Given the description of an element on the screen output the (x, y) to click on. 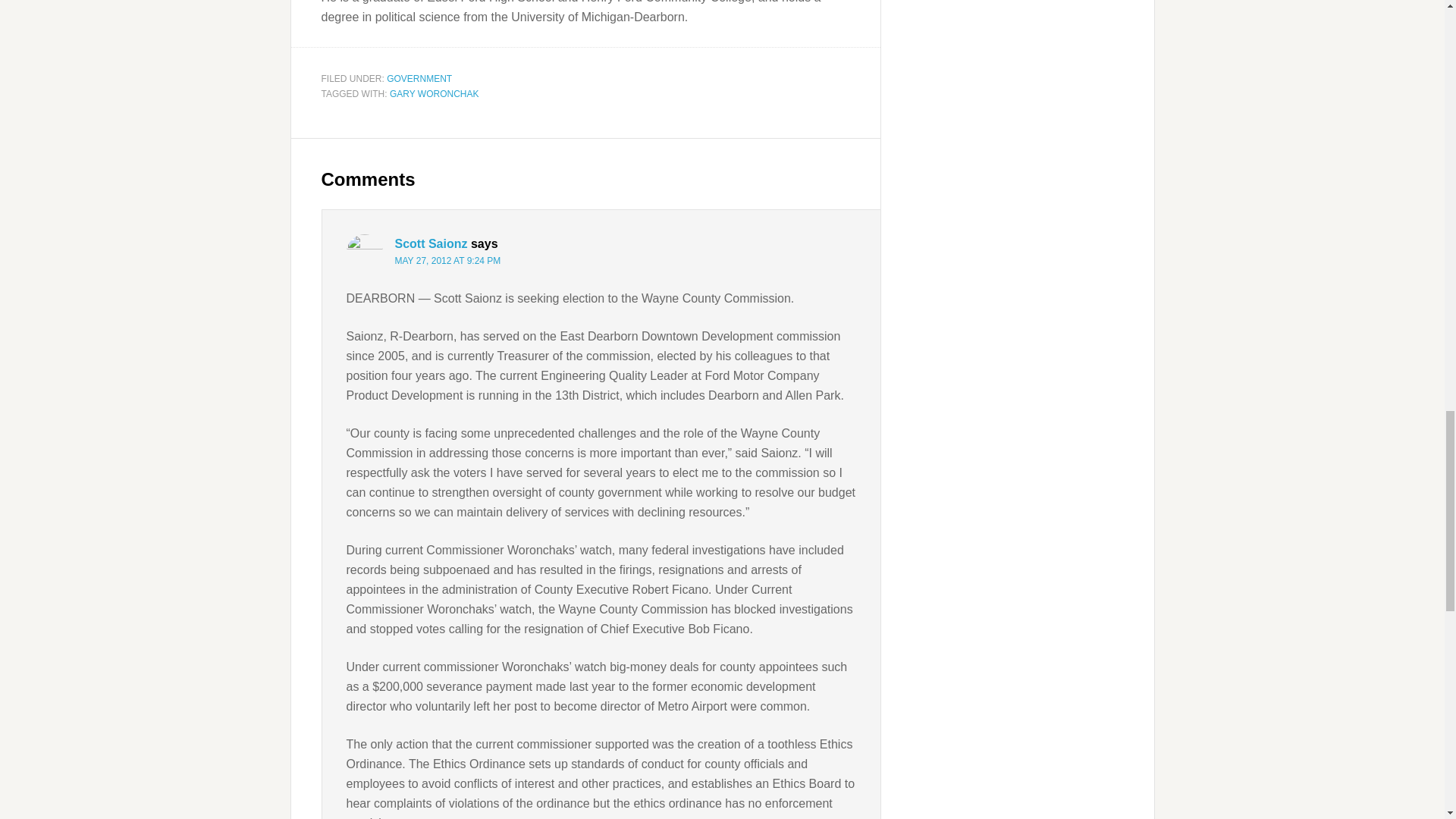
MAY 27, 2012 AT 9:24 PM (447, 260)
GARY WORONCHAK (434, 92)
GOVERNMENT (419, 78)
Scott Saionz (430, 243)
